Given the description of an element on the screen output the (x, y) to click on. 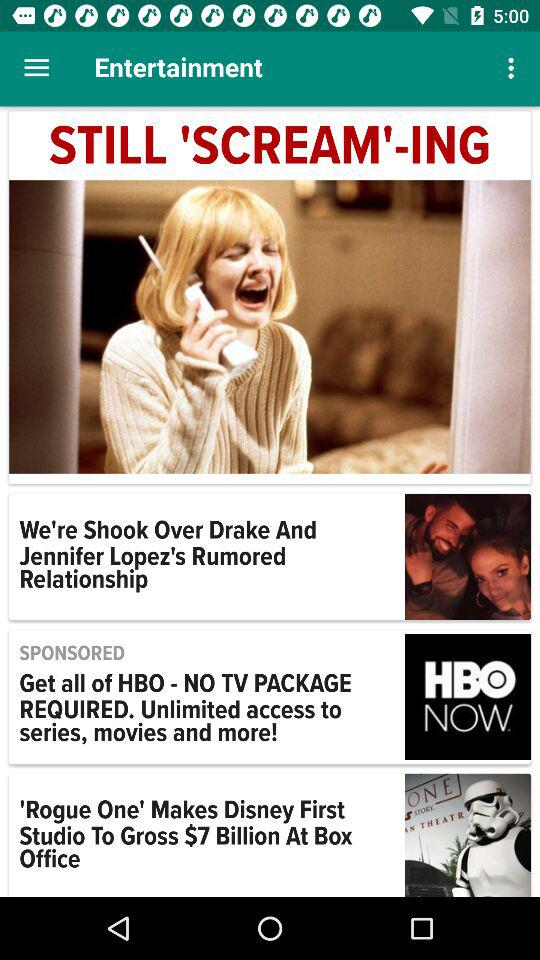
launch icon next to the entertainment icon (513, 67)
